Given the description of an element on the screen output the (x, y) to click on. 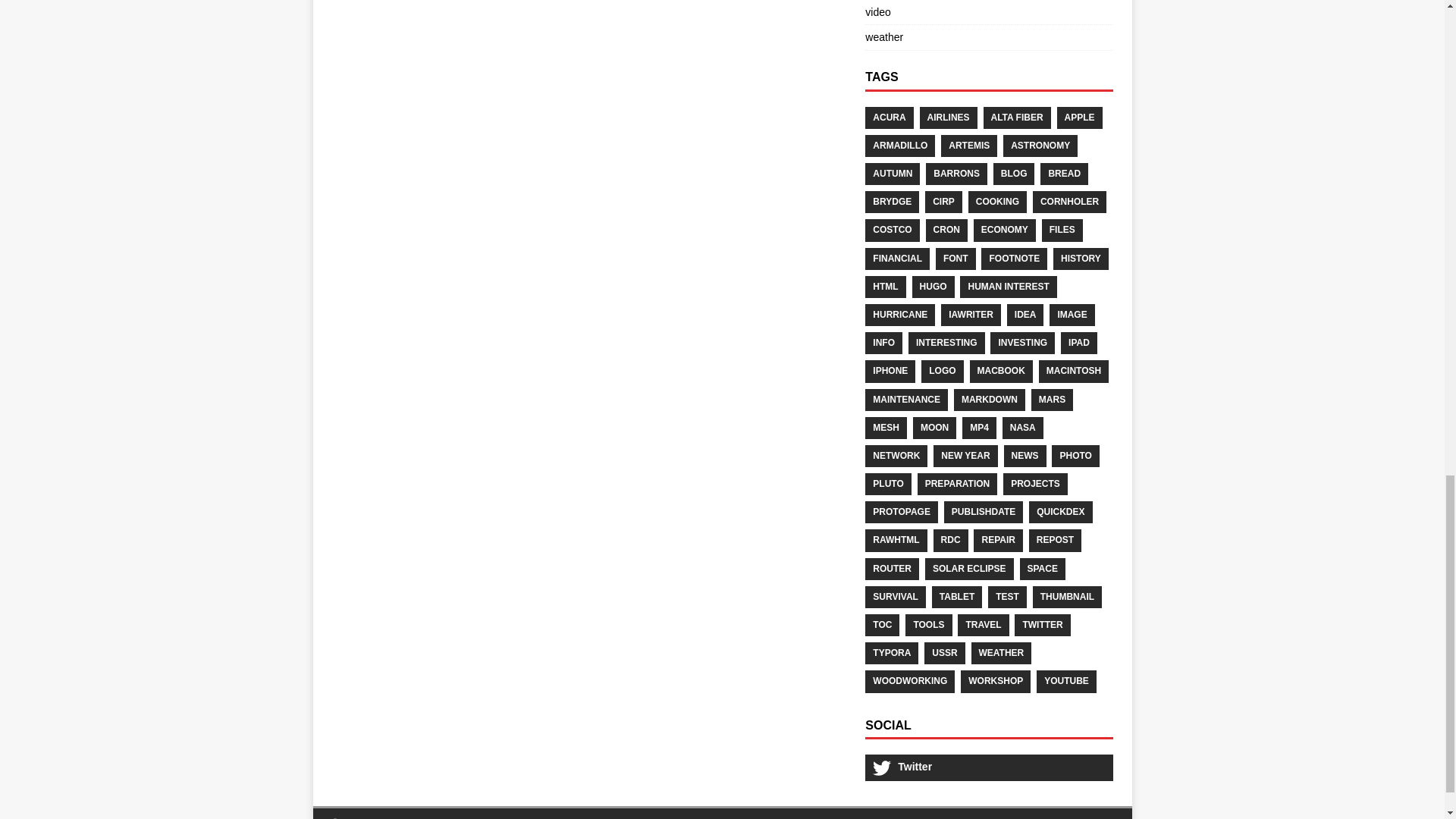
Costco (891, 229)
news (1025, 455)
nasa (1023, 427)
iphone (889, 371)
bread (1064, 173)
AIRLINES (948, 117)
armadillo (899, 146)
footnote (1013, 259)
ARTEMIS (968, 146)
CIRP (943, 201)
iawriter (970, 314)
weather (883, 37)
mars (1051, 399)
new year (965, 455)
mp4 (978, 427)
